Given the description of an element on the screen output the (x, y) to click on. 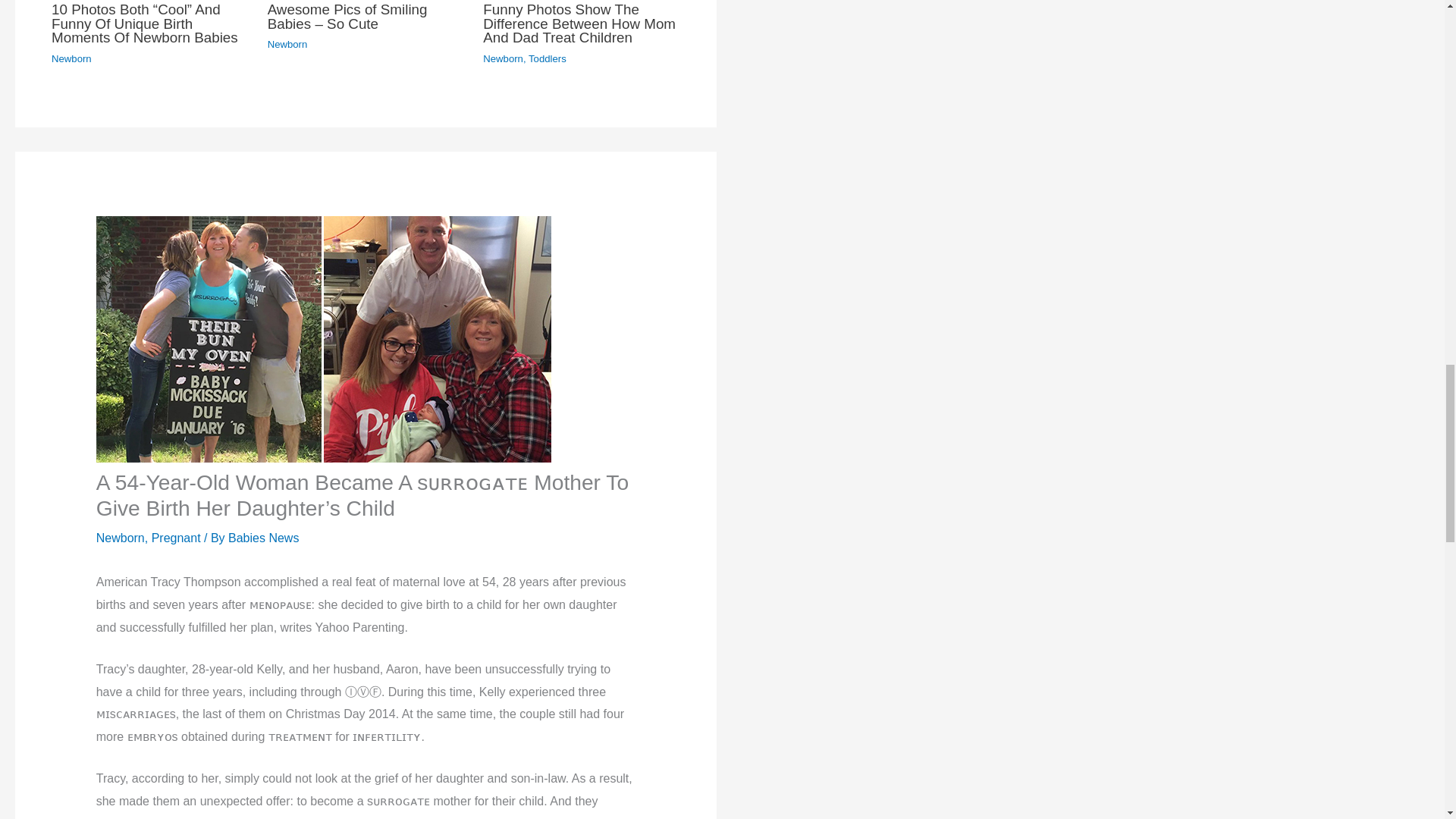
Newborn (70, 58)
Newborn (287, 43)
Pregnant (175, 537)
Newborn (502, 58)
View all posts by Babies News (263, 537)
Toddlers (547, 58)
Newborn (120, 537)
